Given the description of an element on the screen output the (x, y) to click on. 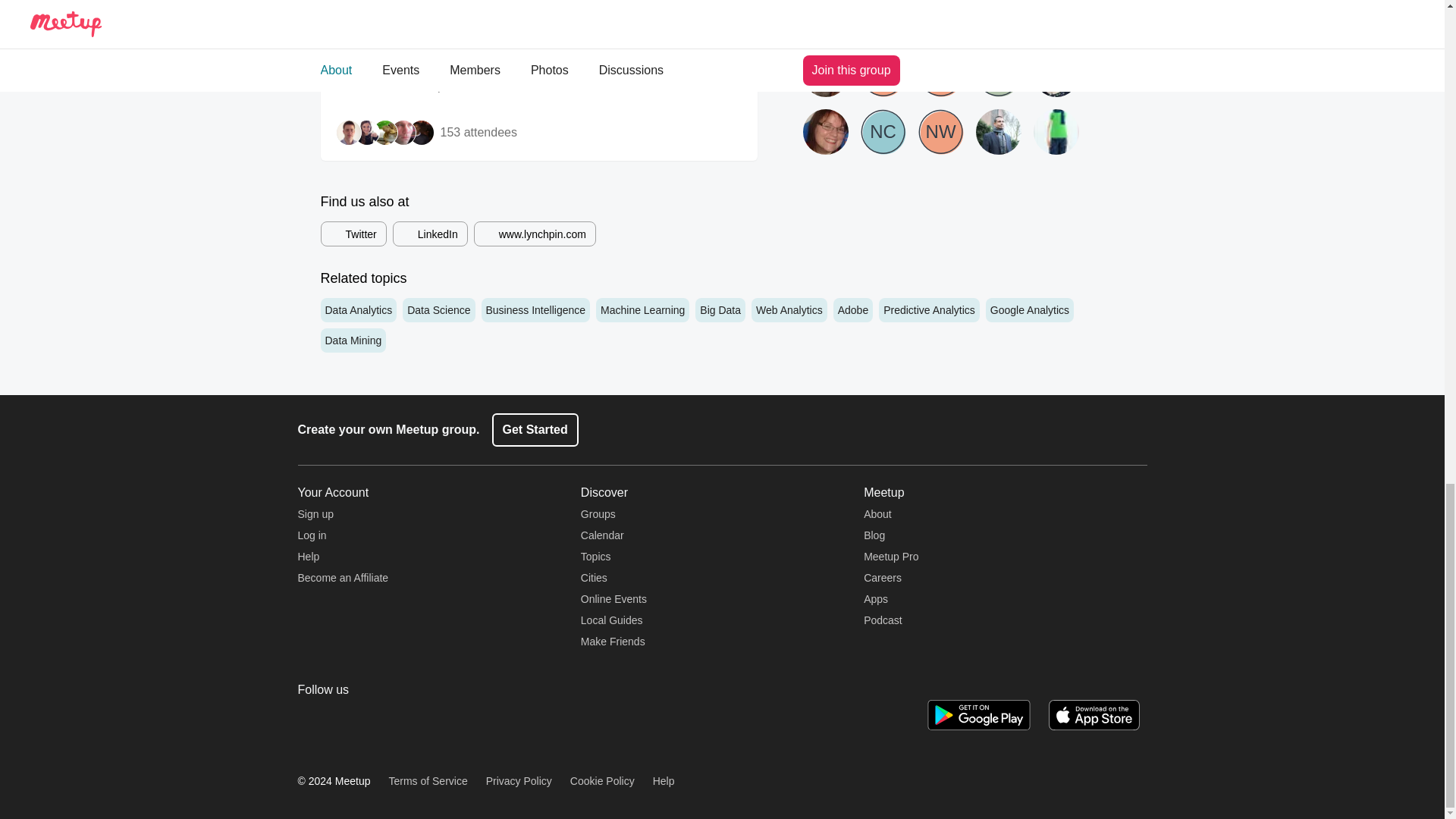
www.lynchpin.com (534, 233)
Twitter (352, 233)
Big Data (720, 310)
Data Analytics (358, 310)
Web Analytics (789, 310)
Data Science (438, 310)
Machine Learning (641, 310)
Business Intelligence (534, 310)
LinkedIn (430, 233)
